Given the description of an element on the screen output the (x, y) to click on. 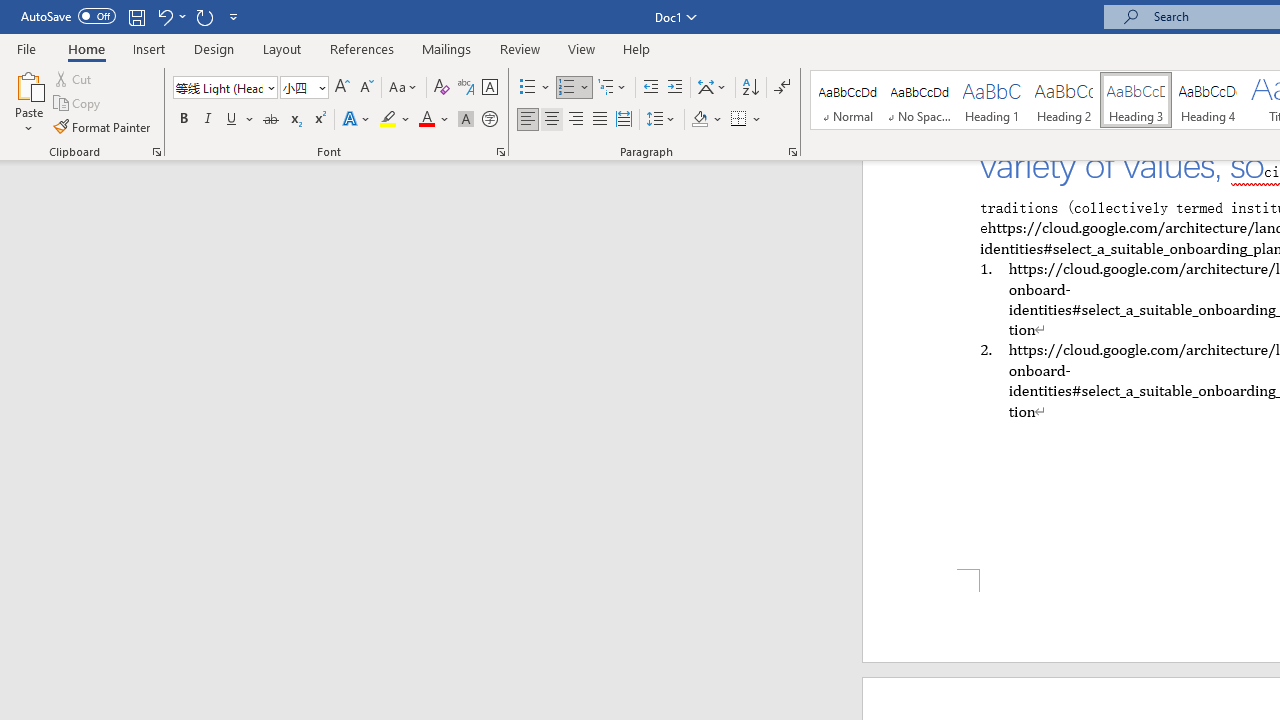
Heading 3 (1135, 100)
Heading 2 (1063, 100)
